Given the description of an element on the screen output the (x, y) to click on. 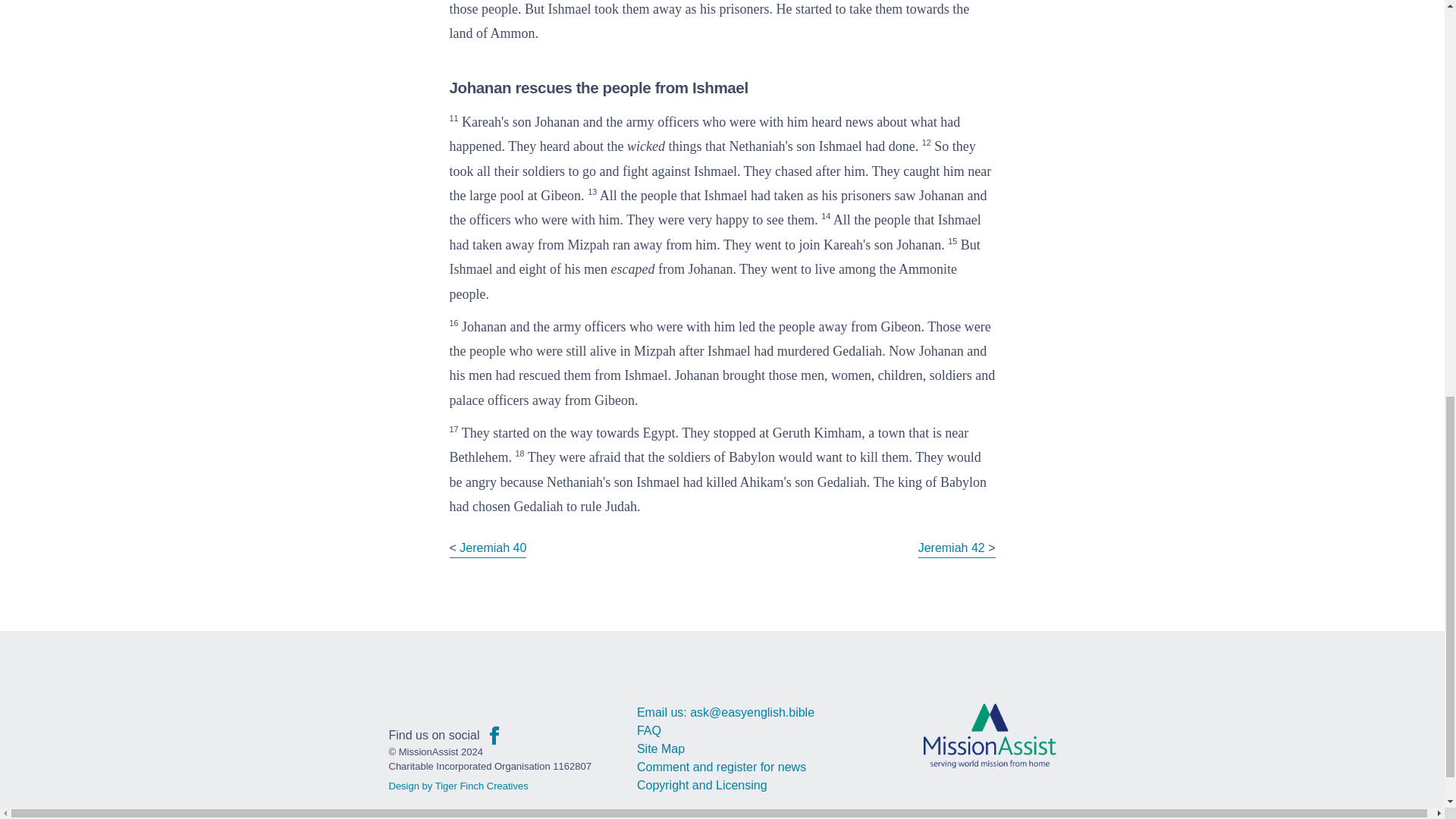
Jeremiah 42 (951, 547)
FAQ (649, 730)
Design by Tiger Finch Creatives (457, 785)
Jeremiah 40 (492, 547)
